Given the description of an element on the screen output the (x, y) to click on. 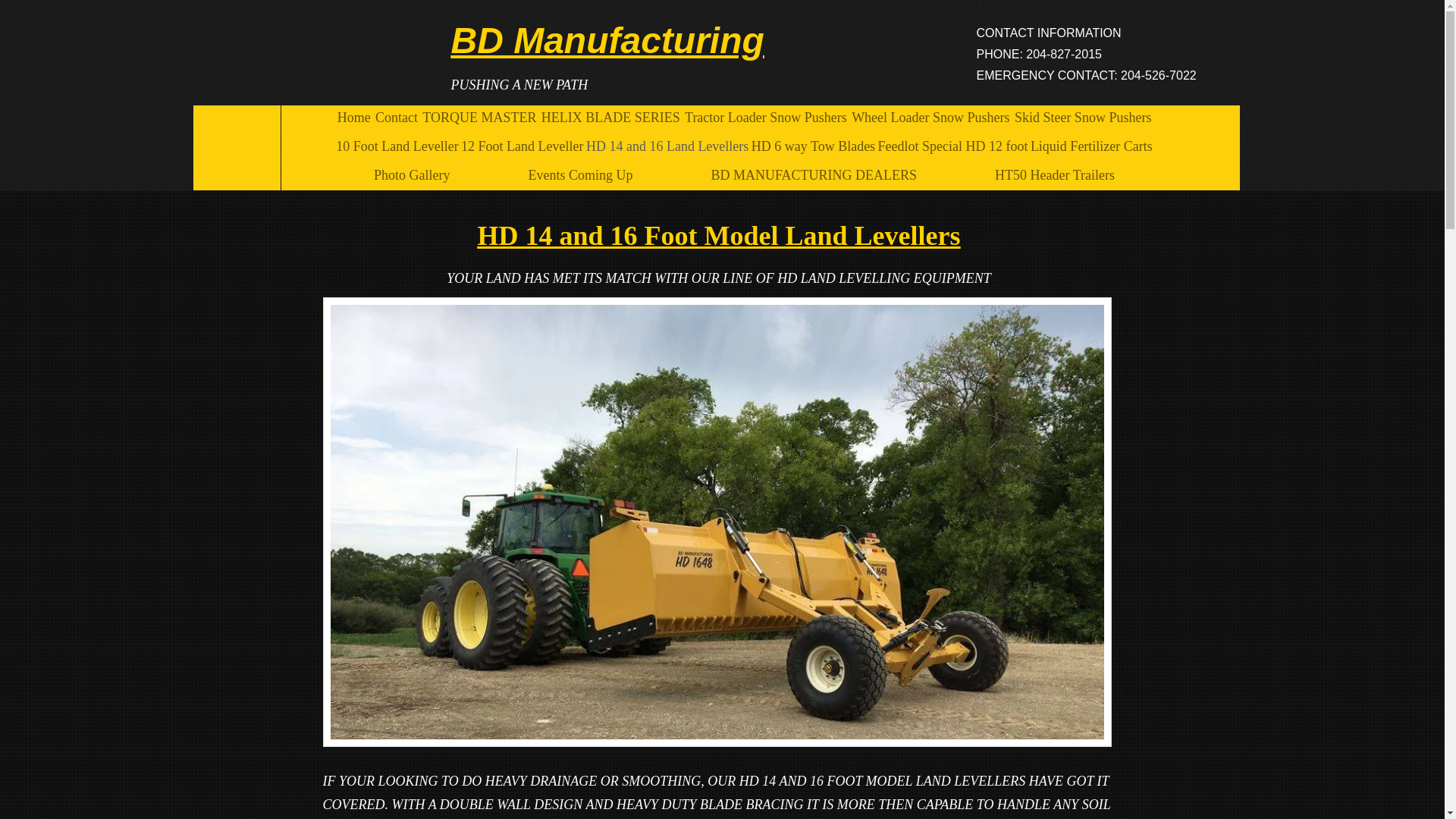
12 Foot Land Leveller Element type: text (521, 145)
Contact Element type: text (396, 117)
Tractor Loader Snow Pushers Element type: text (765, 117)
Home Element type: text (354, 117)
HD 14 and 16 Land Levellers Element type: text (666, 145)
HT50 Header Trailers Element type: text (1055, 174)
Photo Gallery Element type: text (412, 174)
10 Foot Land Leveller Element type: text (397, 145)
HELIX BLADE SERIES Element type: text (610, 117)
Events Coming Up Element type: text (580, 174)
TORQUE MASTER Element type: text (479, 117)
Skid Steer Snow Pushers Element type: text (1083, 117)
BD MANUFACTURING DEALERS Element type: text (813, 174)
Wheel Loader Snow Pushers Element type: text (930, 117)
Liquid Fertilizer Carts Element type: text (1091, 145)
Feedlot Special HD 12 foot Element type: text (952, 145)
HD 6 way Tow Blades Element type: text (812, 145)
